Given the description of an element on the screen output the (x, y) to click on. 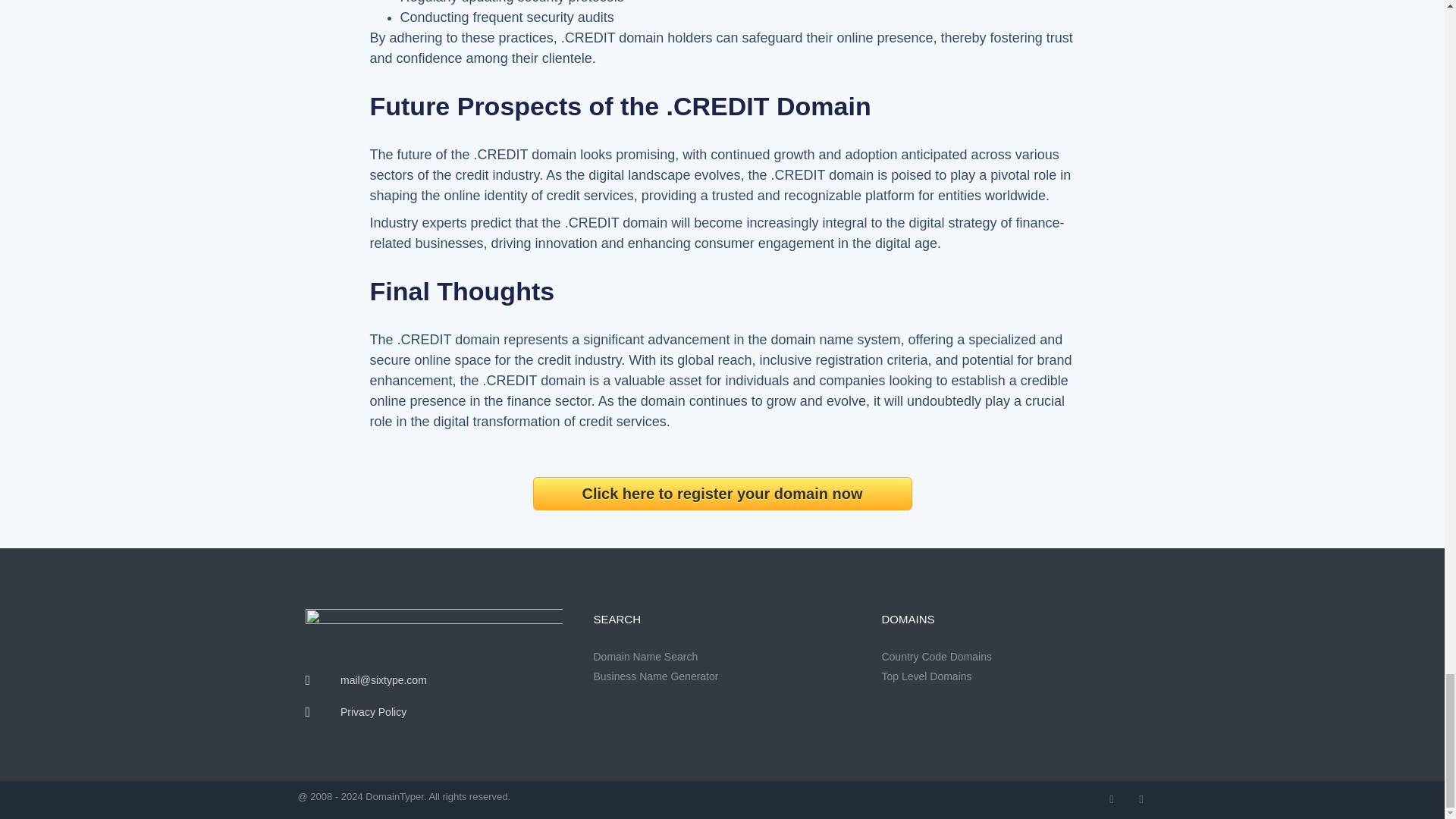
Domain Name Search (721, 657)
Click here to register your domain now (721, 493)
Business Name Generator (721, 676)
Privacy Policy (433, 712)
